Given the description of an element on the screen output the (x, y) to click on. 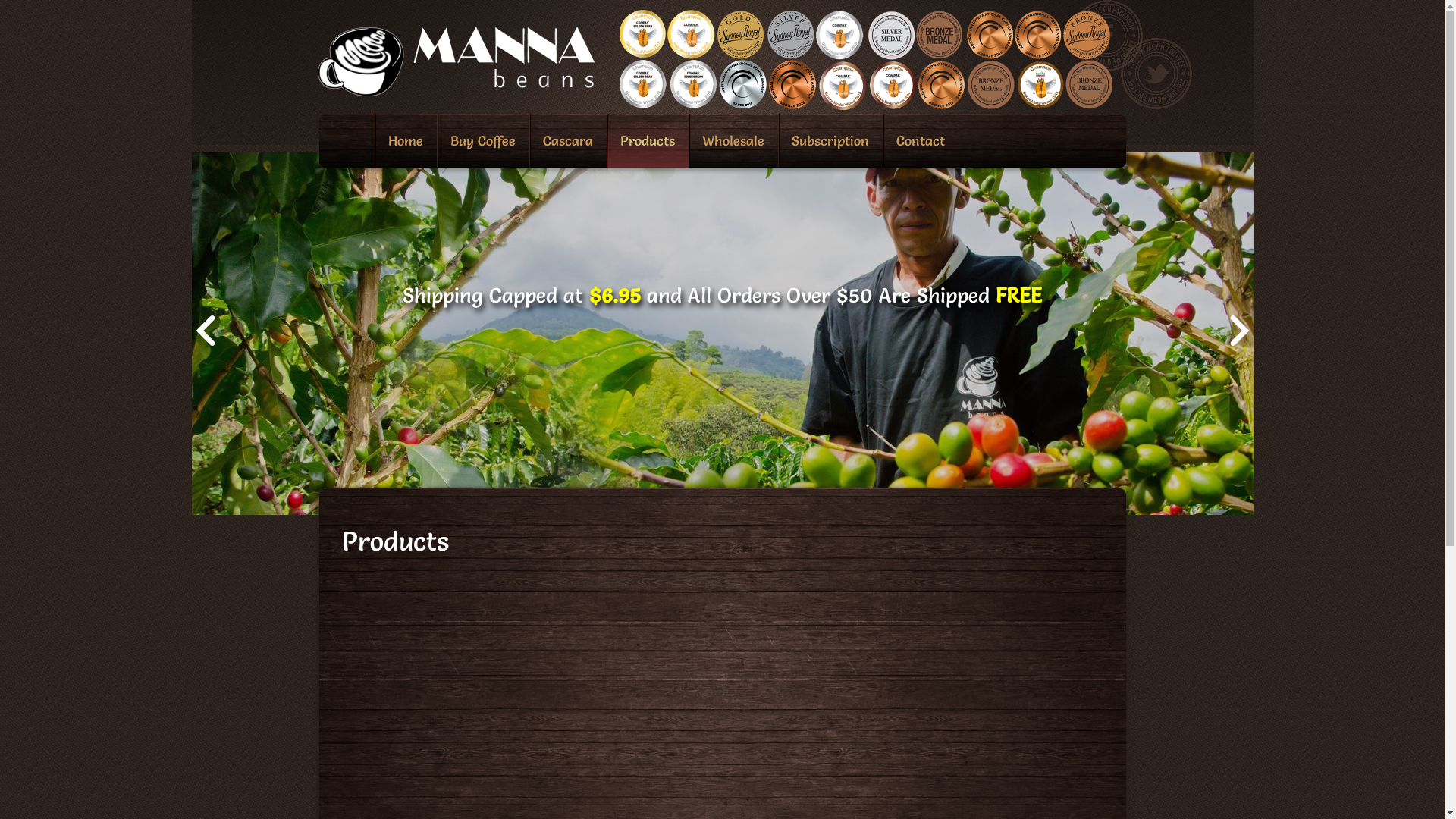
Manna Beans Element type: hover (454, 91)
Facebook Element type: text (1106, 35)
Subscription Element type: text (830, 140)
Home Element type: text (405, 140)
Products Element type: text (647, 140)
Move Backward Element type: hover (205, 330)
Cascara Element type: text (567, 140)
Contact Element type: text (920, 140)
Move Forward Element type: hover (1239, 330)
Buy Coffee Element type: text (482, 140)
Wholesale Element type: text (733, 140)
Twitter Element type: text (1156, 73)
